Given the description of an element on the screen output the (x, y) to click on. 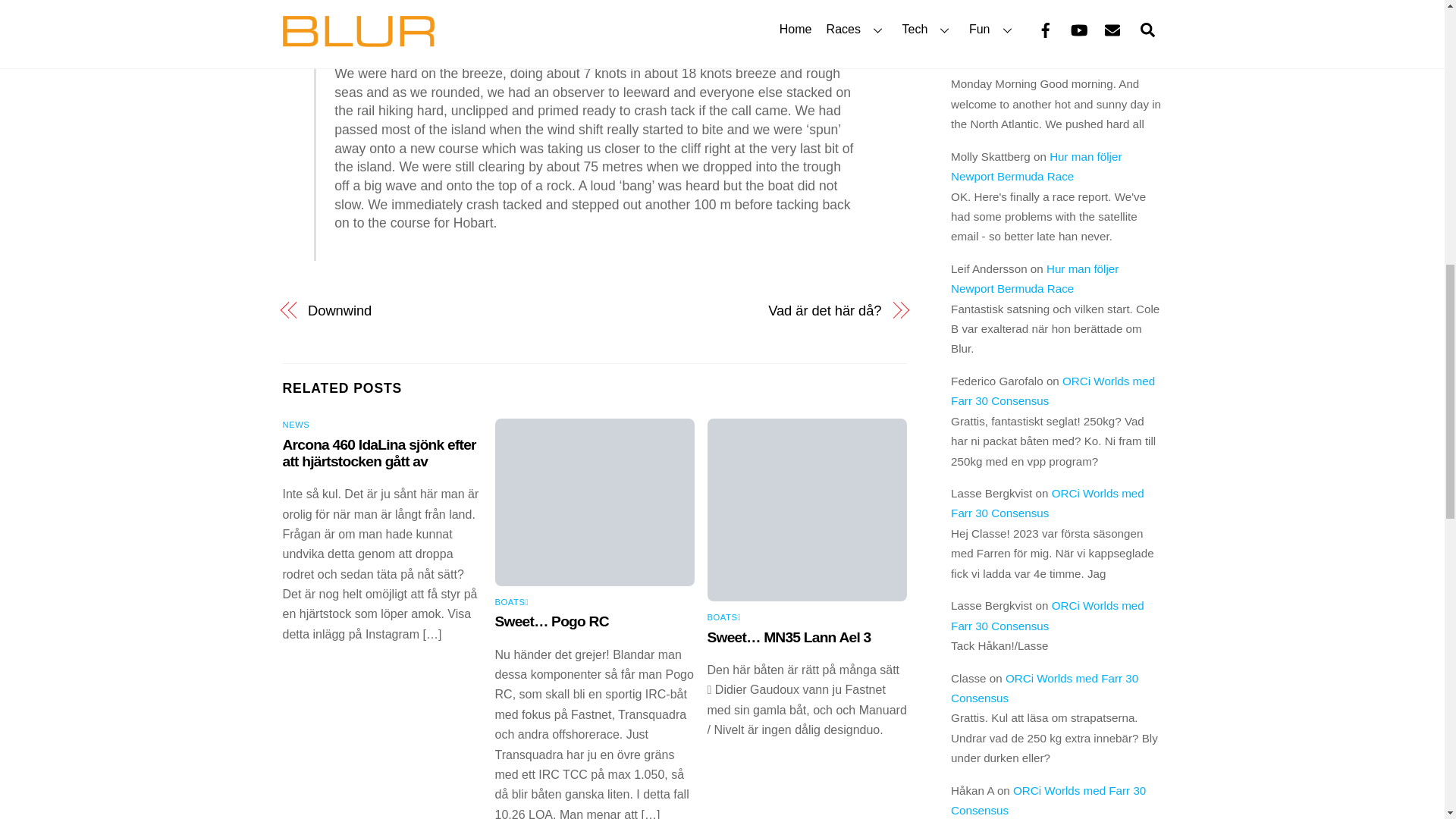
NEWS (295, 424)
Downwind (441, 311)
